Given the description of an element on the screen output the (x, y) to click on. 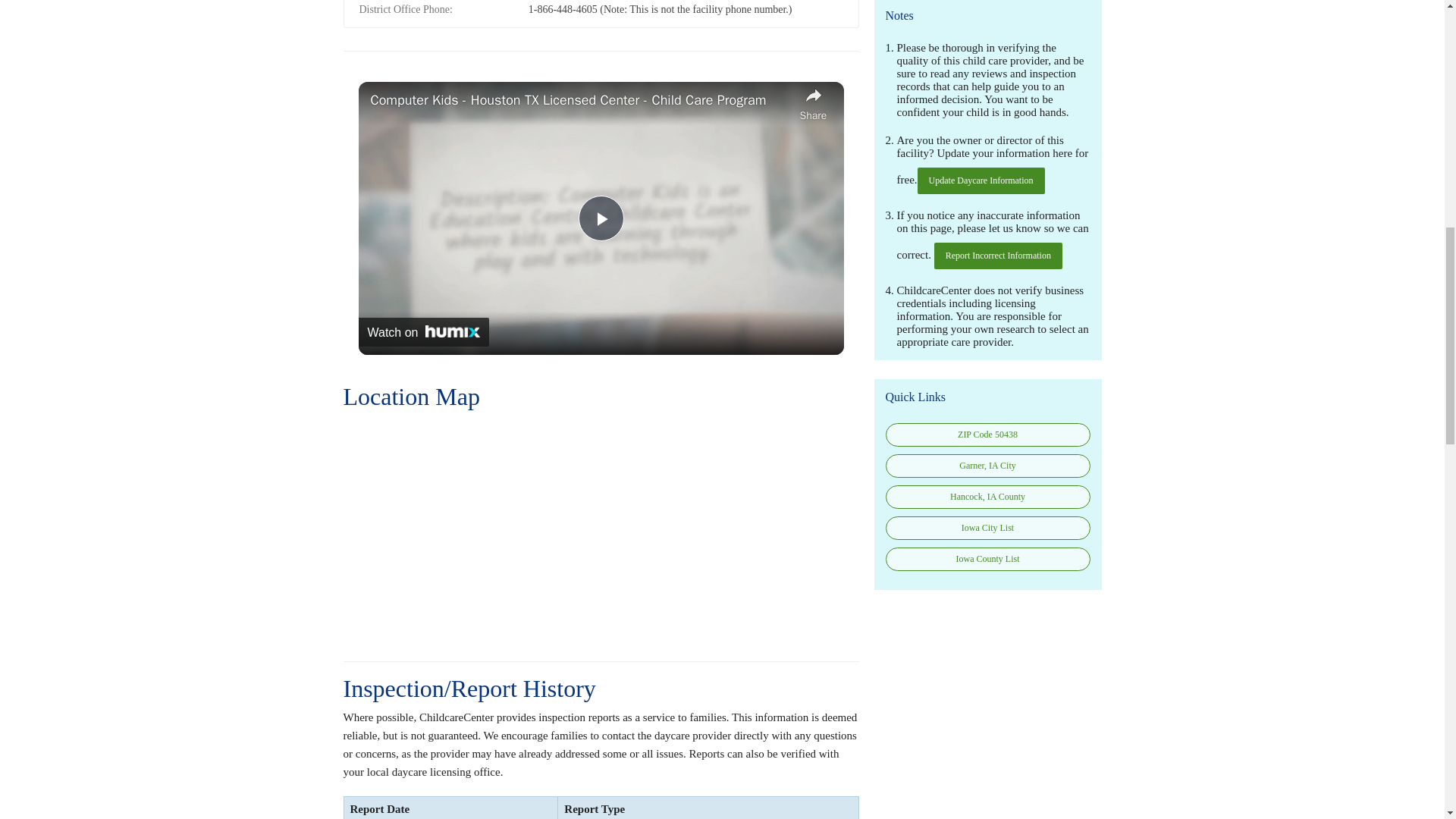
Play Video (600, 217)
Play Video (600, 217)
Watch on (422, 331)
